Given the description of an element on the screen output the (x, y) to click on. 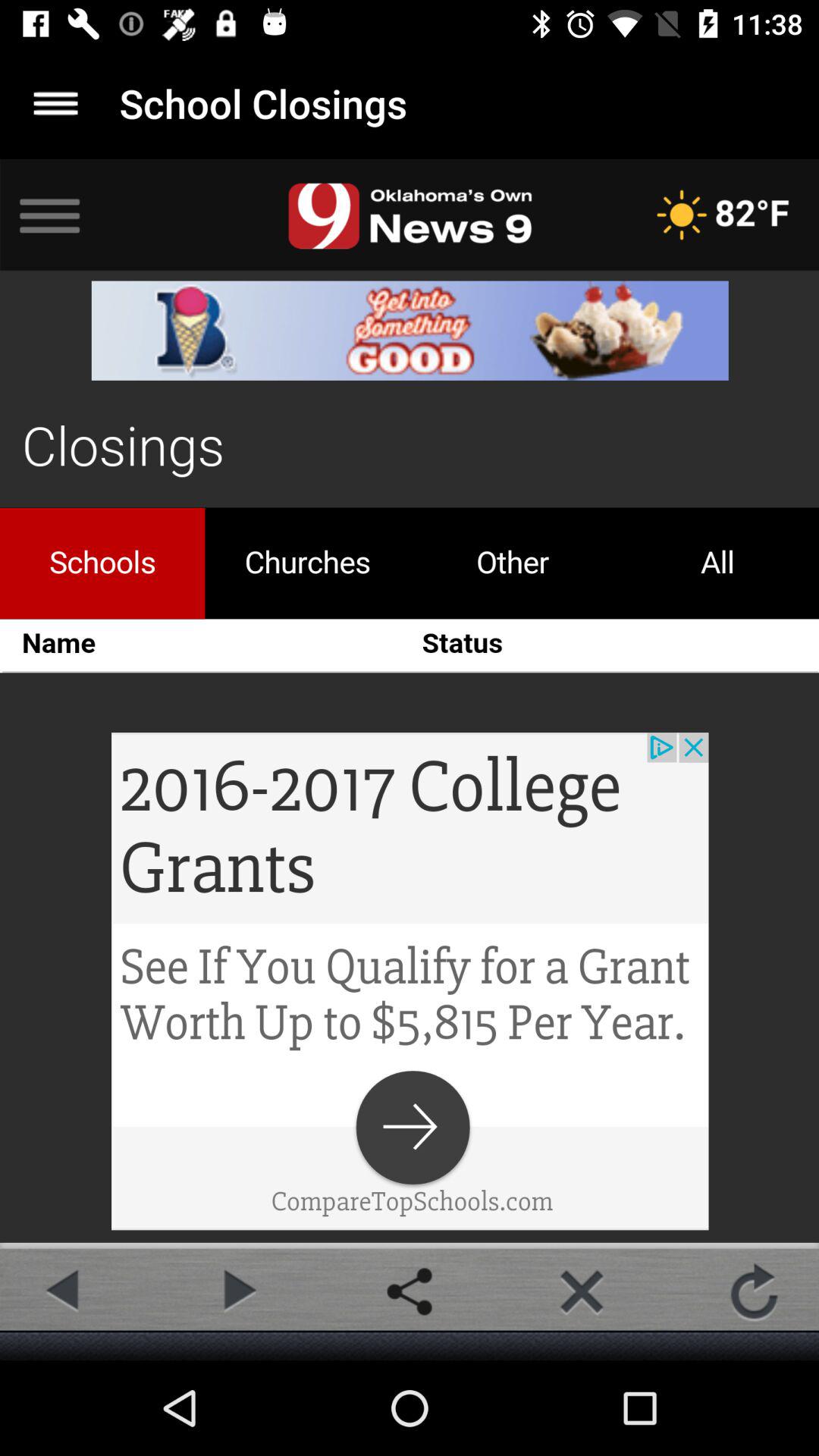
delect selection (581, 1291)
